Given the description of an element on the screen output the (x, y) to click on. 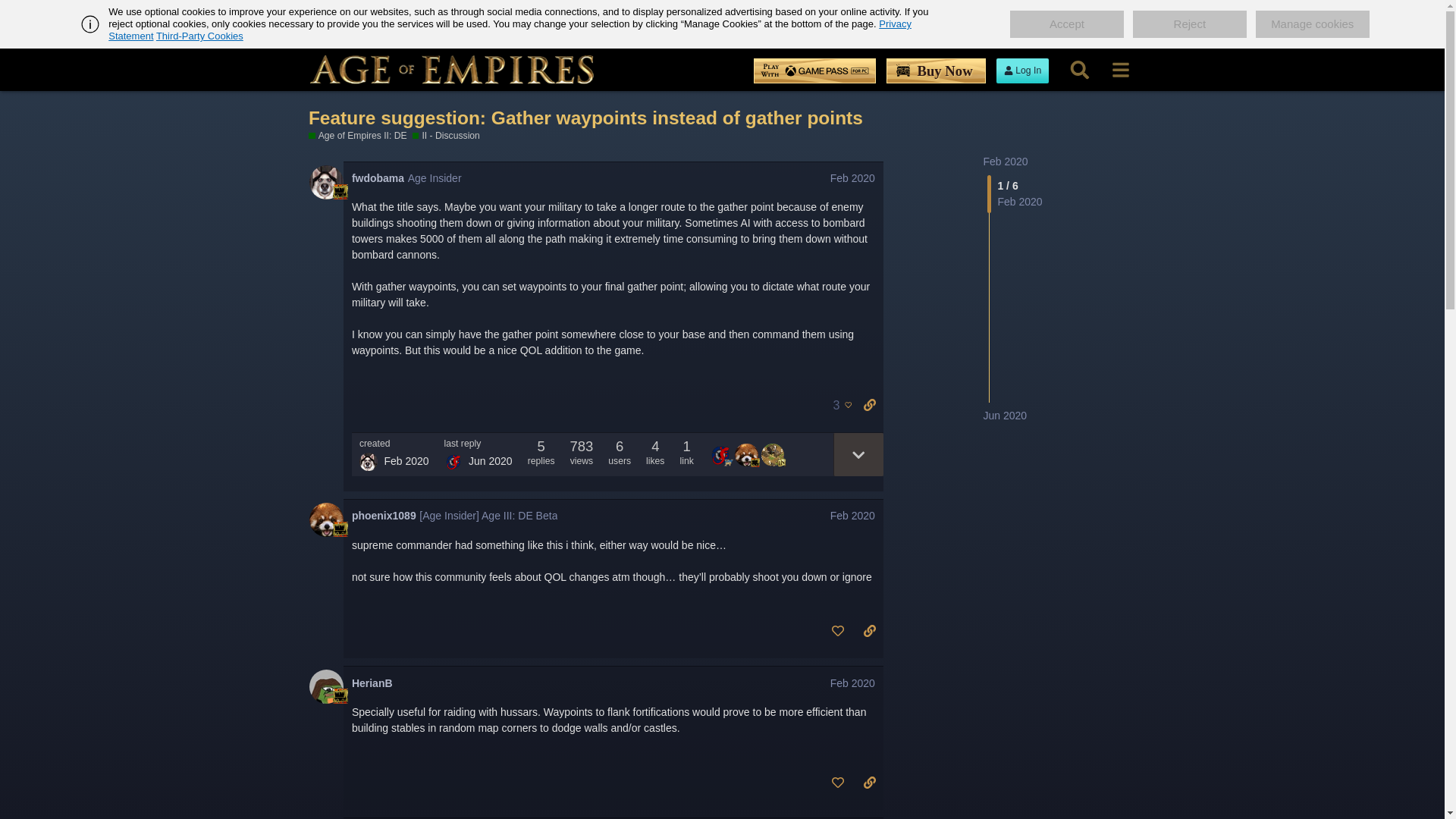
Feb 2020 (852, 177)
Feb 24, 2020 6:12 pm (406, 460)
menu (1120, 69)
II - Discussion (446, 135)
Third-Party Cookies (199, 35)
Reject (1189, 23)
phoenix1089 (384, 515)
3 (838, 404)
Jump to the first post (1004, 161)
Search (1079, 69)
Play With Game Pass (815, 70)
Privacy Statement (509, 29)
SalamanderRobot (453, 461)
expand topic details (857, 454)
